Given the description of an element on the screen output the (x, y) to click on. 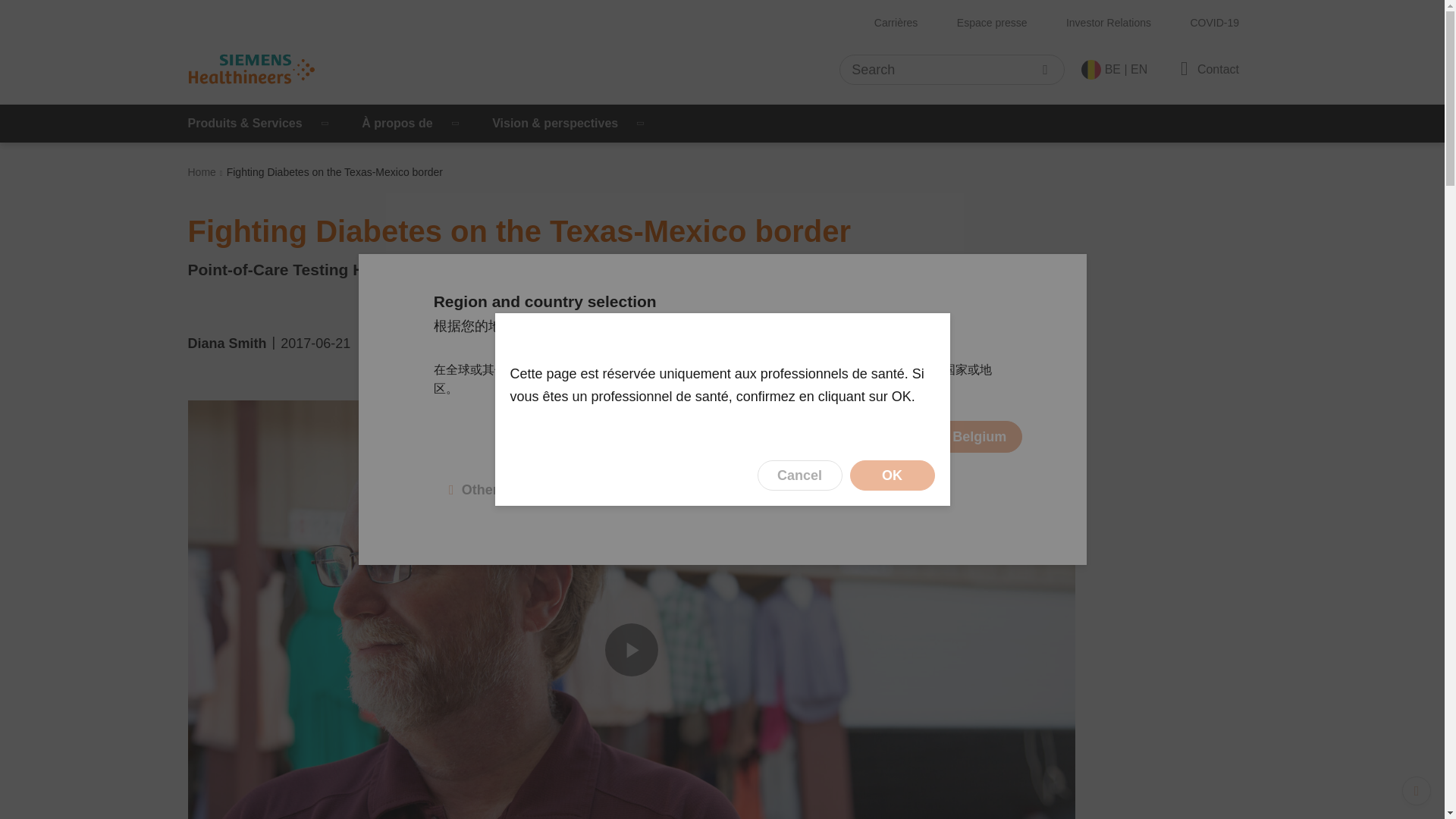
Play Video (631, 649)
Contact (1206, 69)
Play Video (631, 649)
China (753, 325)
China Home (674, 436)
COVID-19 (1214, 22)
Investor Relations (1108, 22)
Espace presse (992, 22)
Continue to current website: Belgium (885, 436)
Home (201, 172)
Other regions, countries, and languages (585, 489)
